Given the description of an element on the screen output the (x, y) to click on. 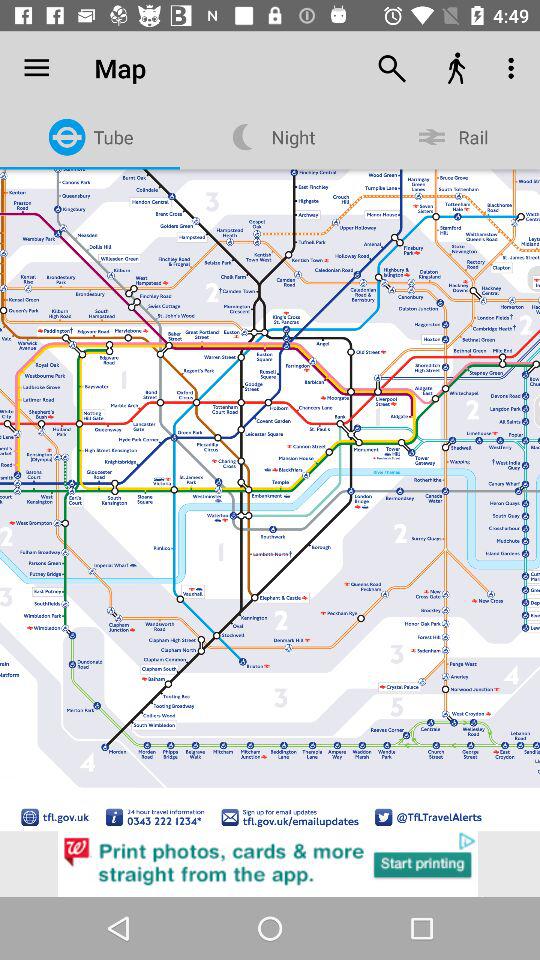
go to advertisement (270, 864)
